Given the description of an element on the screen output the (x, y) to click on. 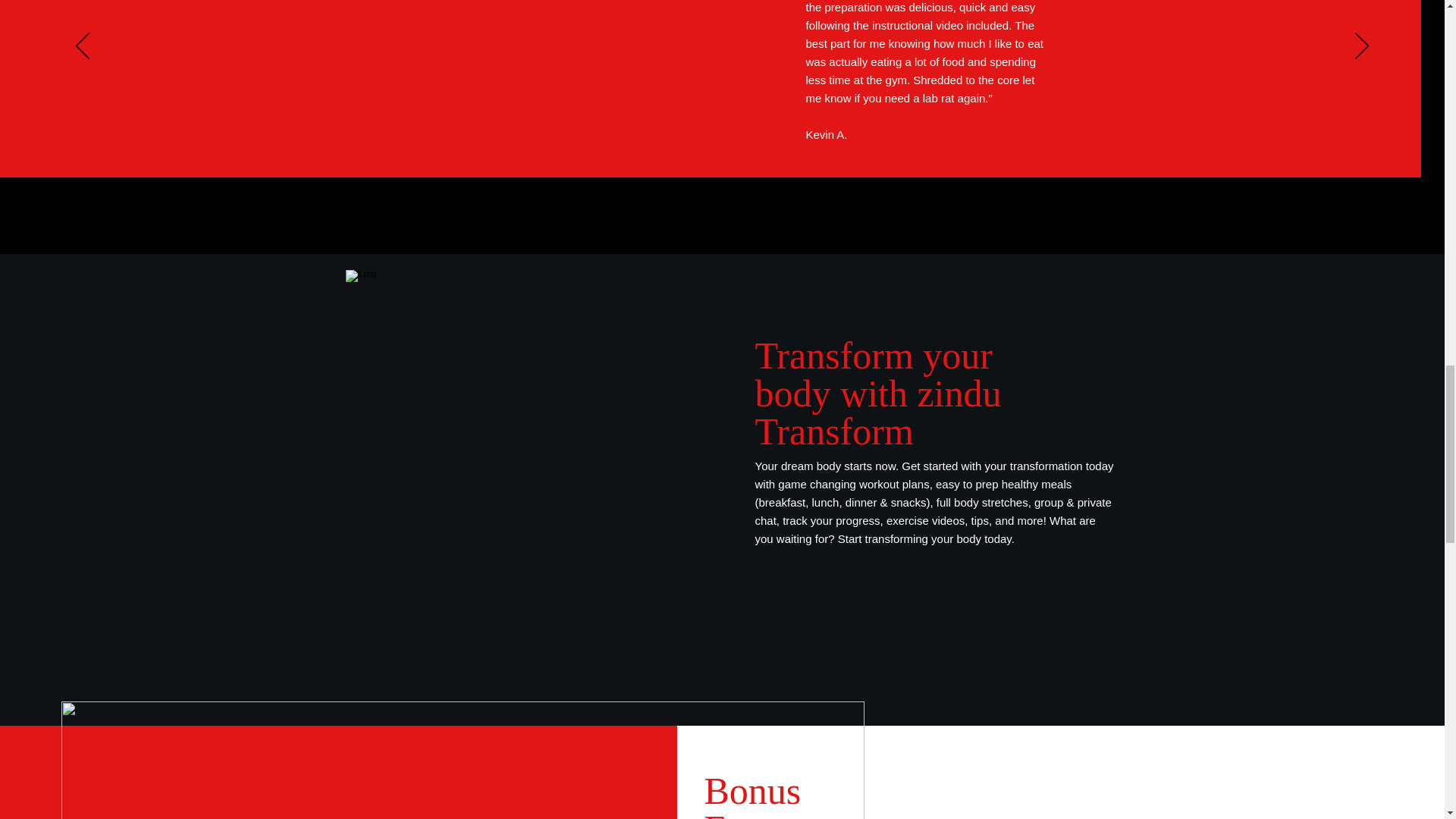
3.png (462, 760)
